Given the description of an element on the screen output the (x, y) to click on. 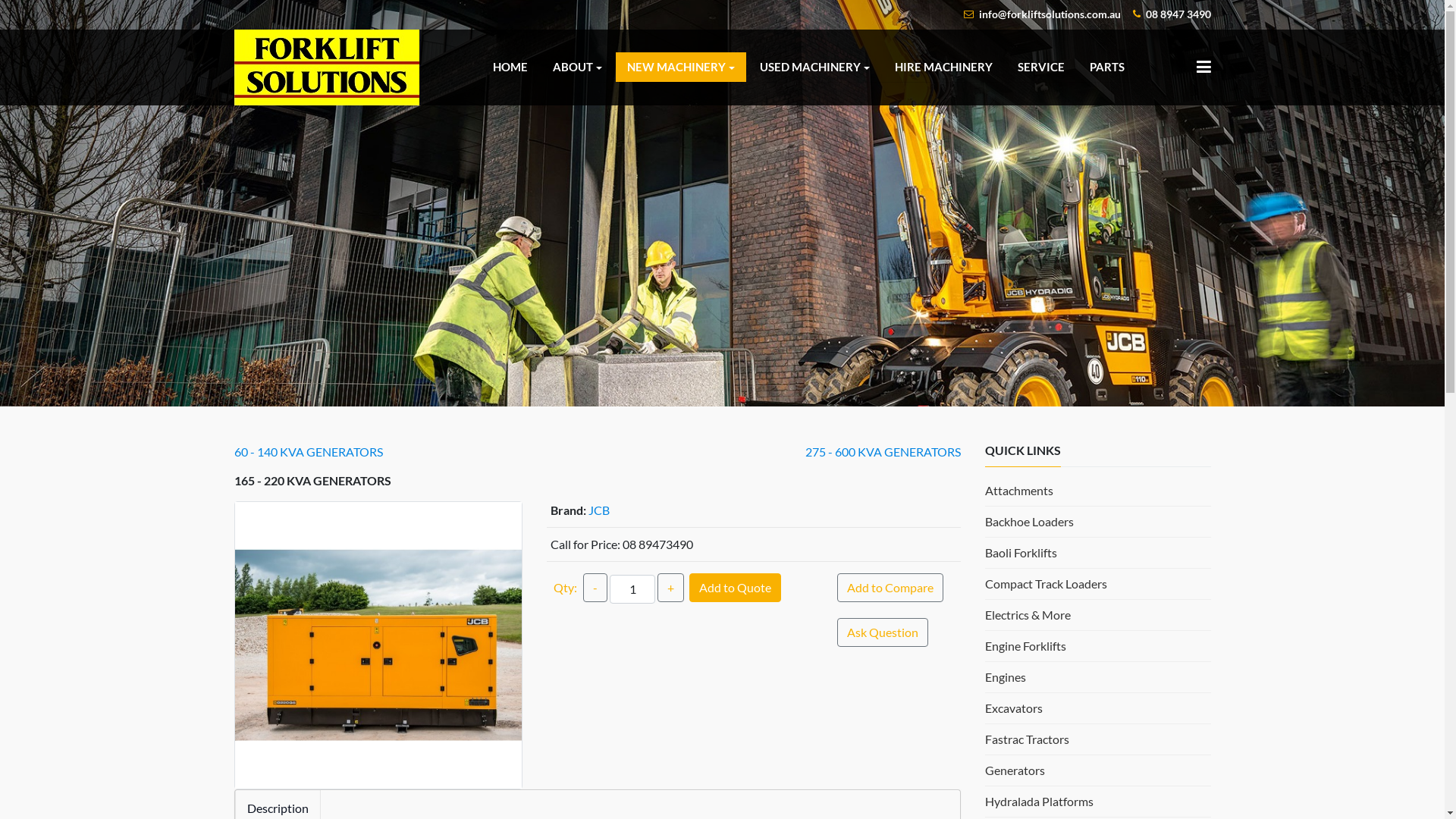
HIRE MACHINERY Element type: text (943, 66)
Compact Track Loaders Element type: text (1045, 583)
60 - 140 KVA GENERATORS Element type: text (307, 451)
Backhoe Loaders Element type: text (1028, 521)
275 - 600 KVA GENERATORS Element type: text (882, 451)
Generators Element type: text (1014, 769)
165 - 220 KVA GENERATORS  Element type: hover (378, 645)
Fastrac Tractors Element type: text (1026, 738)
Engines Element type: text (1004, 676)
- Element type: text (595, 587)
Add to Quote Element type: text (735, 587)
+ Element type: text (670, 587)
Baoli Forklifts Element type: text (1020, 552)
PARTS Element type: text (1106, 66)
Excavators Element type: text (1012, 707)
SERVICE Element type: text (1041, 66)
Engine Forklifts Element type: text (1024, 645)
Ask Question Element type: text (882, 632)
Hydralada Platforms Element type: text (1038, 800)
Attachments Element type: text (1018, 490)
Forklift Solutions Darwin- JCB | Linde | Hydralada | Baoli Element type: hover (325, 40)
HOME Element type: text (510, 66)
Electrics & More Element type: text (1027, 614)
JCB Element type: text (598, 509)
Add to Compare Element type: text (890, 587)
